Given the description of an element on the screen output the (x, y) to click on. 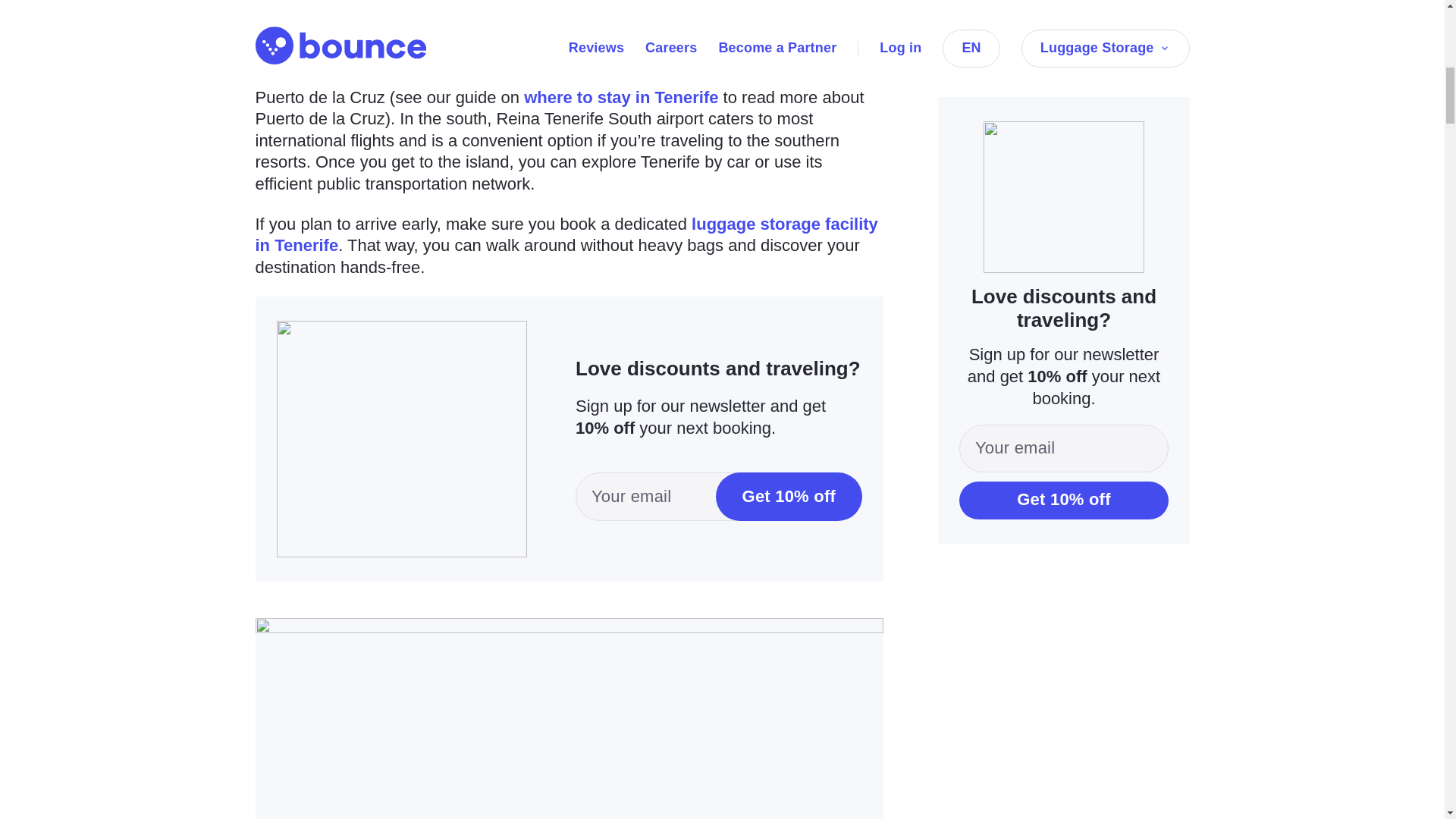
where to stay in Tenerife (620, 97)
Los Rodeos Tenerife North airport (563, 53)
luggage storage facility in Tenerife (565, 234)
